Given the description of an element on the screen output the (x, y) to click on. 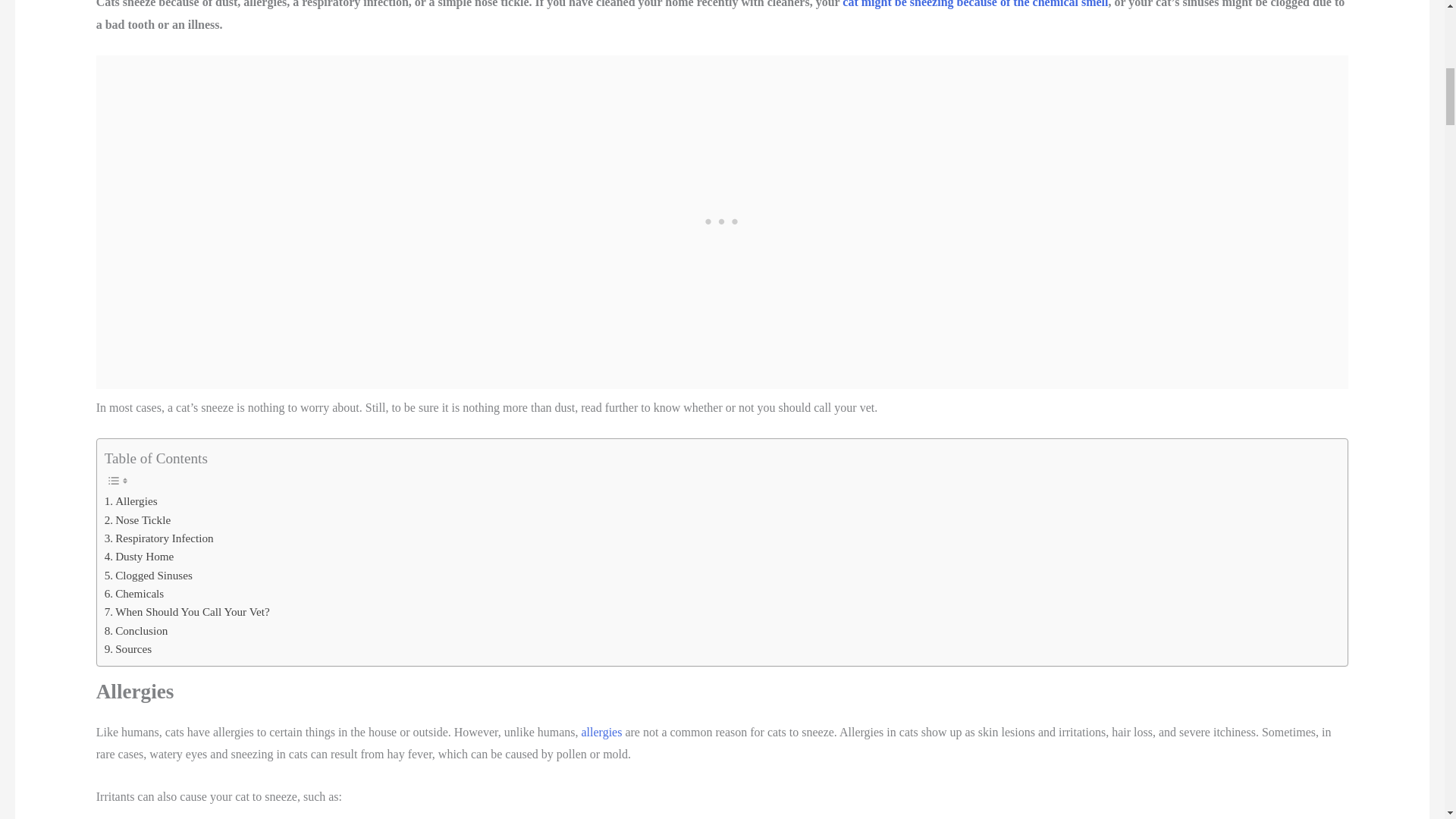
Dusty Home (139, 556)
Allergies (130, 501)
Respiratory Infection (159, 538)
Conclusion (136, 630)
Clogged Sinuses (148, 575)
allergies (601, 731)
Dusty Home (139, 556)
cat might be sneezing because of the chemical smell (975, 4)
Respiratory Infection (159, 538)
Allergies (130, 501)
Chemicals (134, 593)
Sources (128, 648)
Clogged Sinuses (148, 575)
Conclusion (136, 630)
Sources (128, 648)
